Given the description of an element on the screen output the (x, y) to click on. 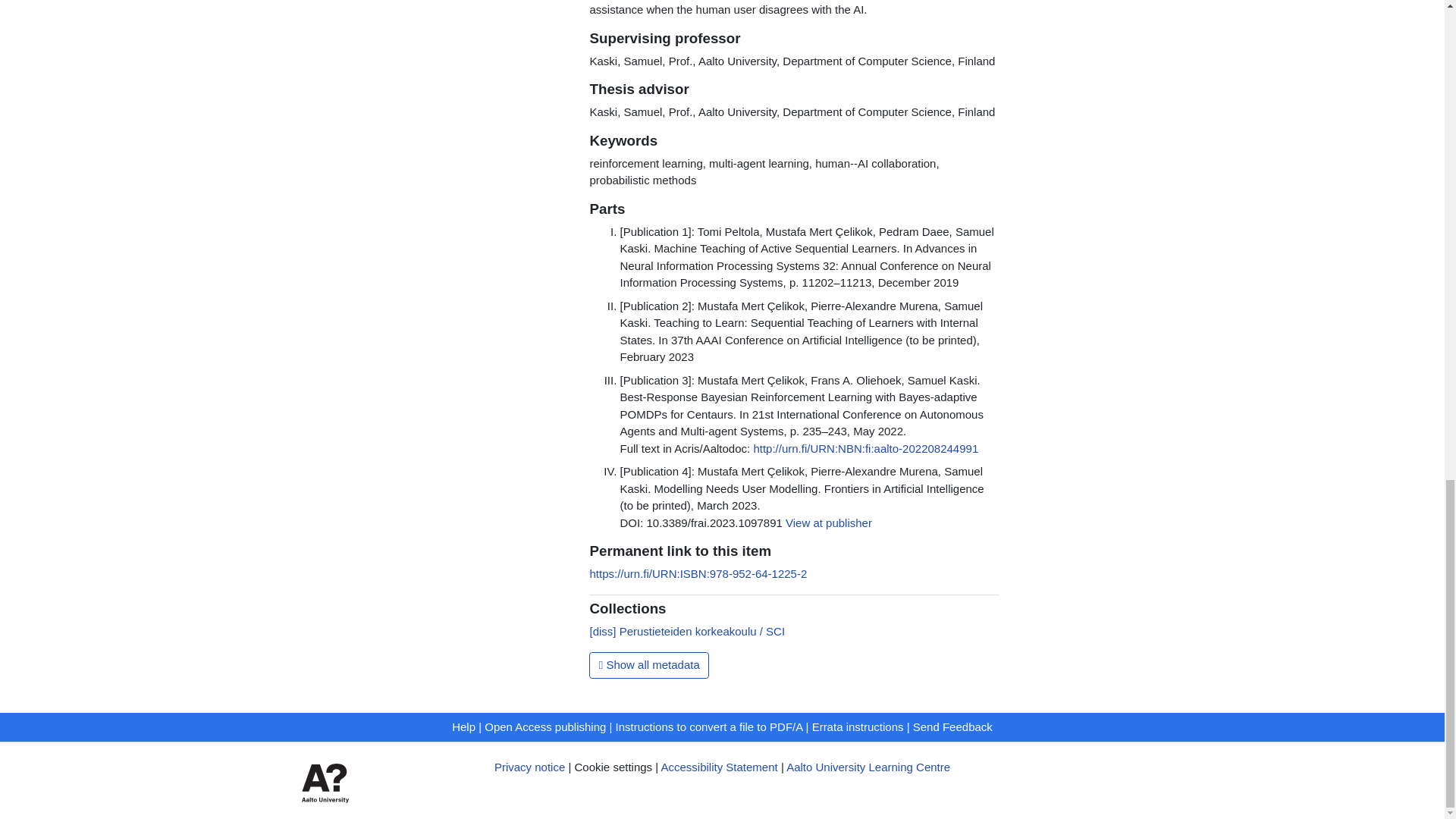
View at publisher (829, 521)
Aalto University Learning Centre (868, 766)
Send Feedback (952, 726)
Accessibility Statement (719, 766)
Show all metadata (649, 665)
Help (463, 726)
Errata instructions (858, 726)
Cookie settings (613, 766)
Open Access publishing (544, 726)
Privacy notice (529, 766)
